Given the description of an element on the screen output the (x, y) to click on. 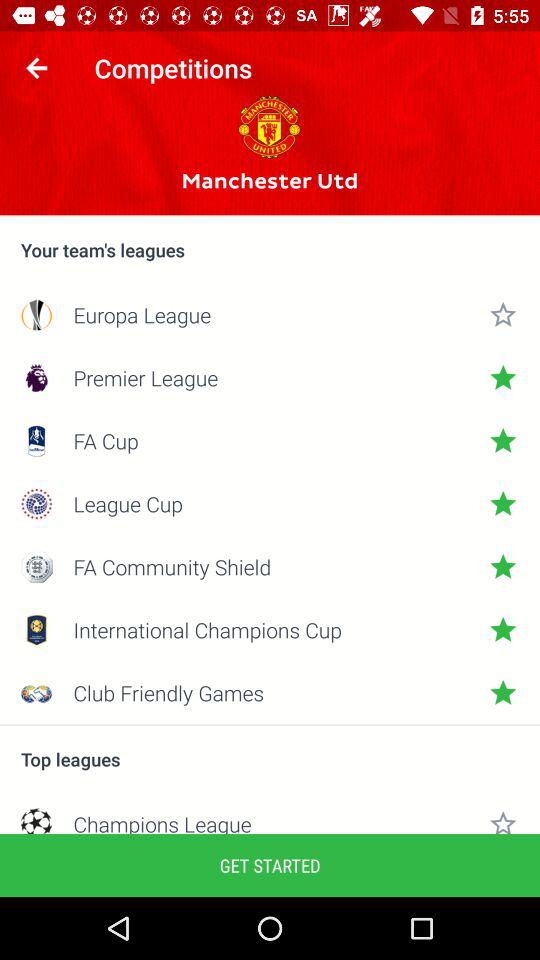
swipe until champions league (269, 821)
